Given the description of an element on the screen output the (x, y) to click on. 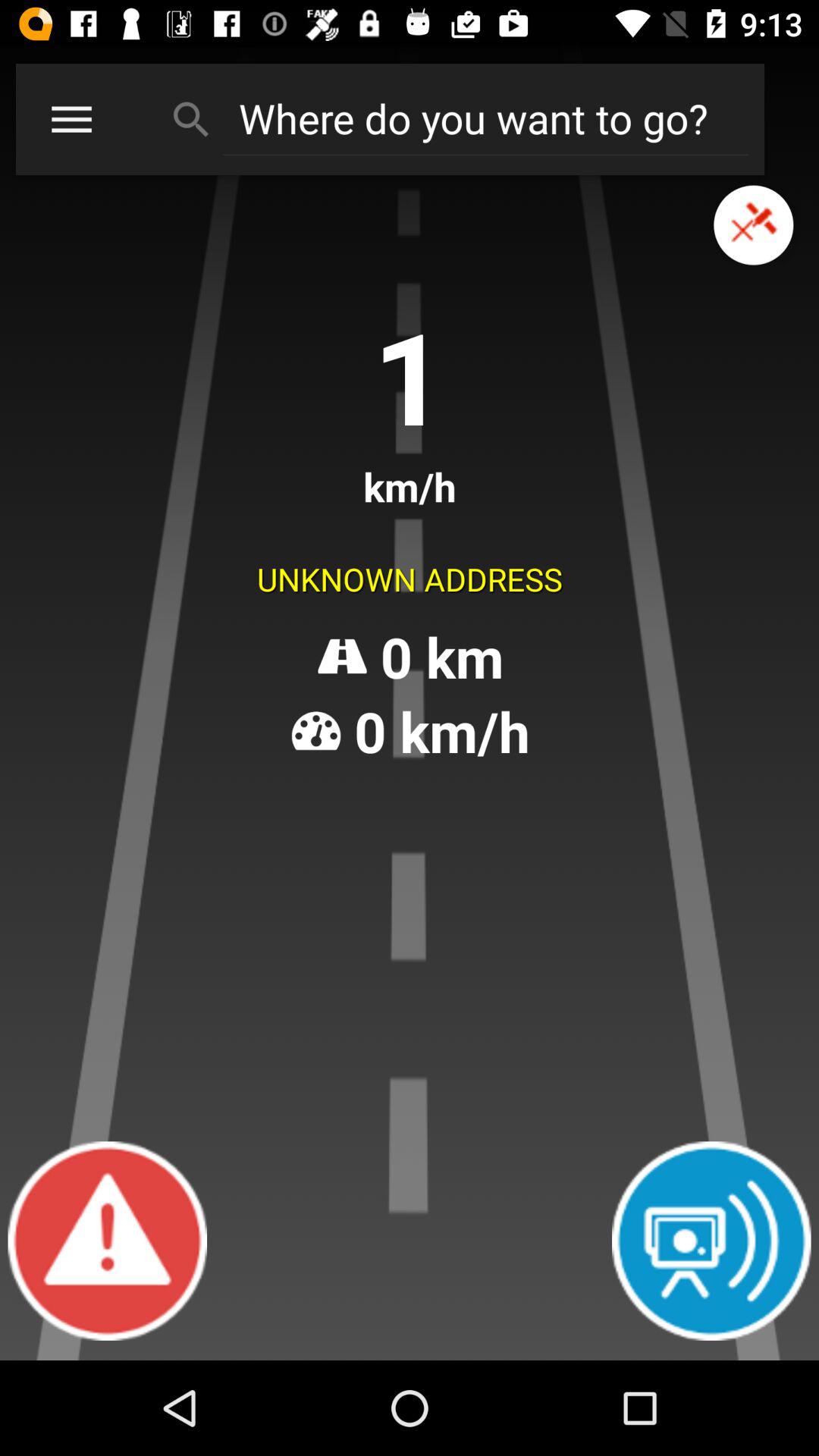
destination field (485, 118)
